Given the description of an element on the screen output the (x, y) to click on. 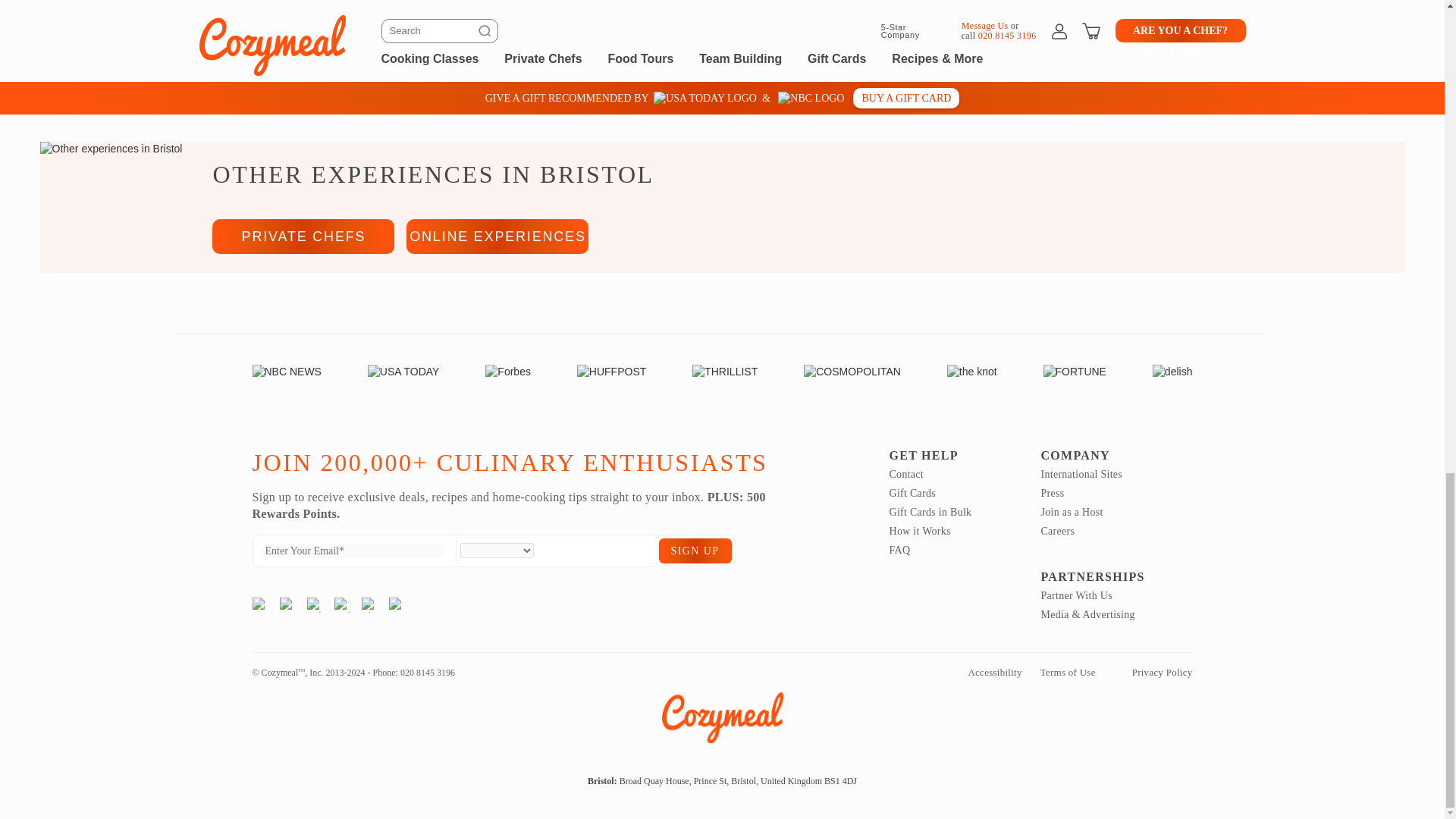
Facebook (286, 604)
Message us (975, 58)
YouTube (395, 604)
Pinterest (368, 604)
Yelp (313, 604)
Instagram (258, 604)
Twitter (341, 604)
